Given the description of an element on the screen output the (x, y) to click on. 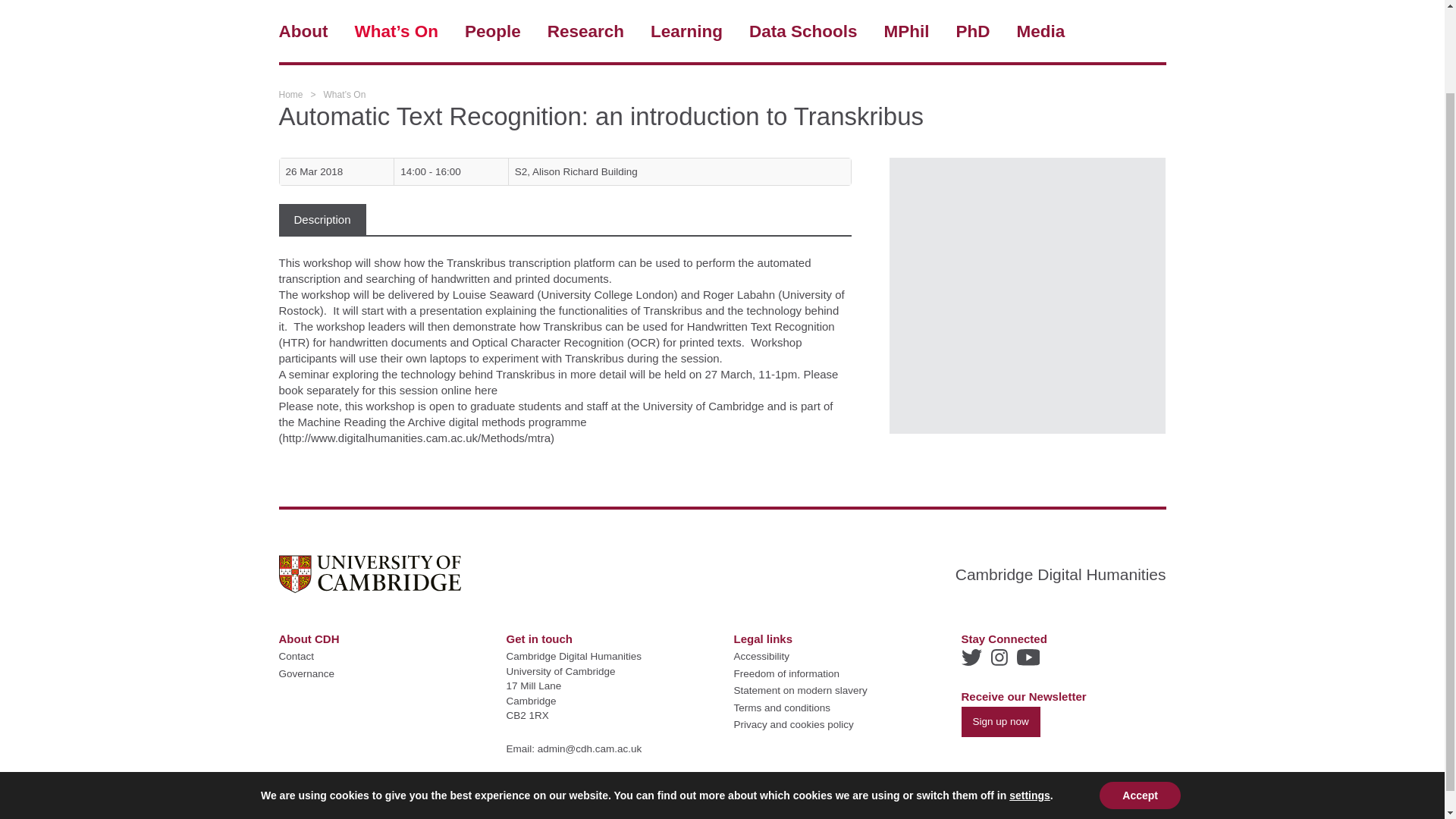
MPhil (906, 32)
Privacy and cookies policy (793, 724)
Home (290, 93)
About (304, 32)
Statement on modern slavery (800, 690)
People (492, 32)
Terms and conditions (782, 706)
Media (1040, 32)
Freedom of information (786, 673)
Learning (686, 32)
